Given the description of an element on the screen output the (x, y) to click on. 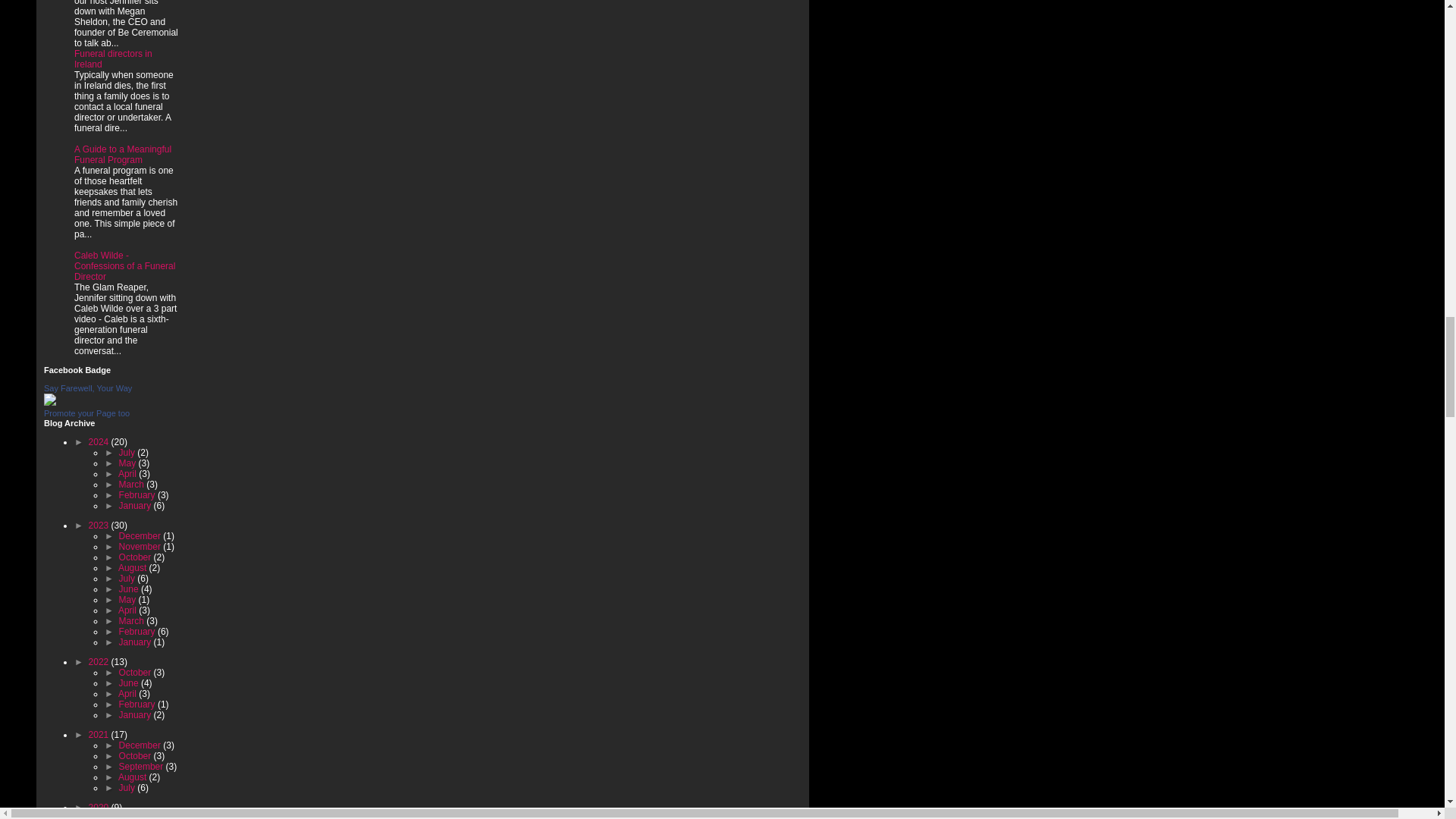
Say Farewell, Your Way (49, 402)
Say Farewell, Your Way (87, 388)
